Given the description of an element on the screen output the (x, y) to click on. 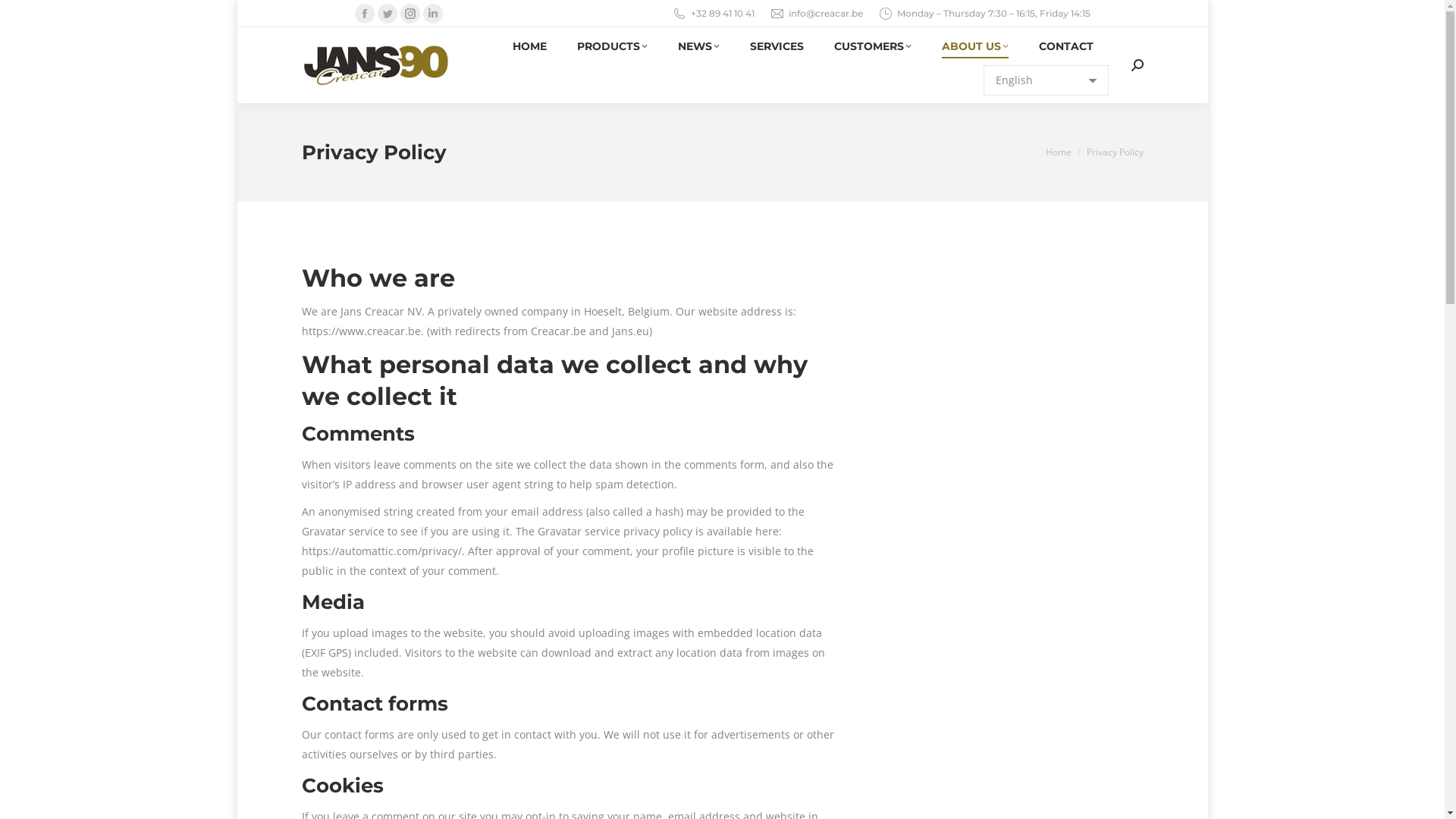
Linkedin page opens in new window Element type: text (432, 13)
SERVICES Element type: text (776, 45)
CONTACT Element type: text (1065, 45)
Twitter page opens in new window Element type: text (387, 13)
Home Element type: text (1057, 151)
NEWS Element type: text (698, 45)
CUSTOMERS Element type: text (872, 45)
Go! Element type: text (24, 16)
info@creacar.be Element type: text (825, 13)
ABOUT US Element type: text (974, 45)
Facebook page opens in new window Element type: text (364, 13)
PRODUCTS Element type: text (611, 45)
Instagram page opens in new window Element type: text (410, 13)
HOME Element type: text (529, 45)
